Given the description of an element on the screen output the (x, y) to click on. 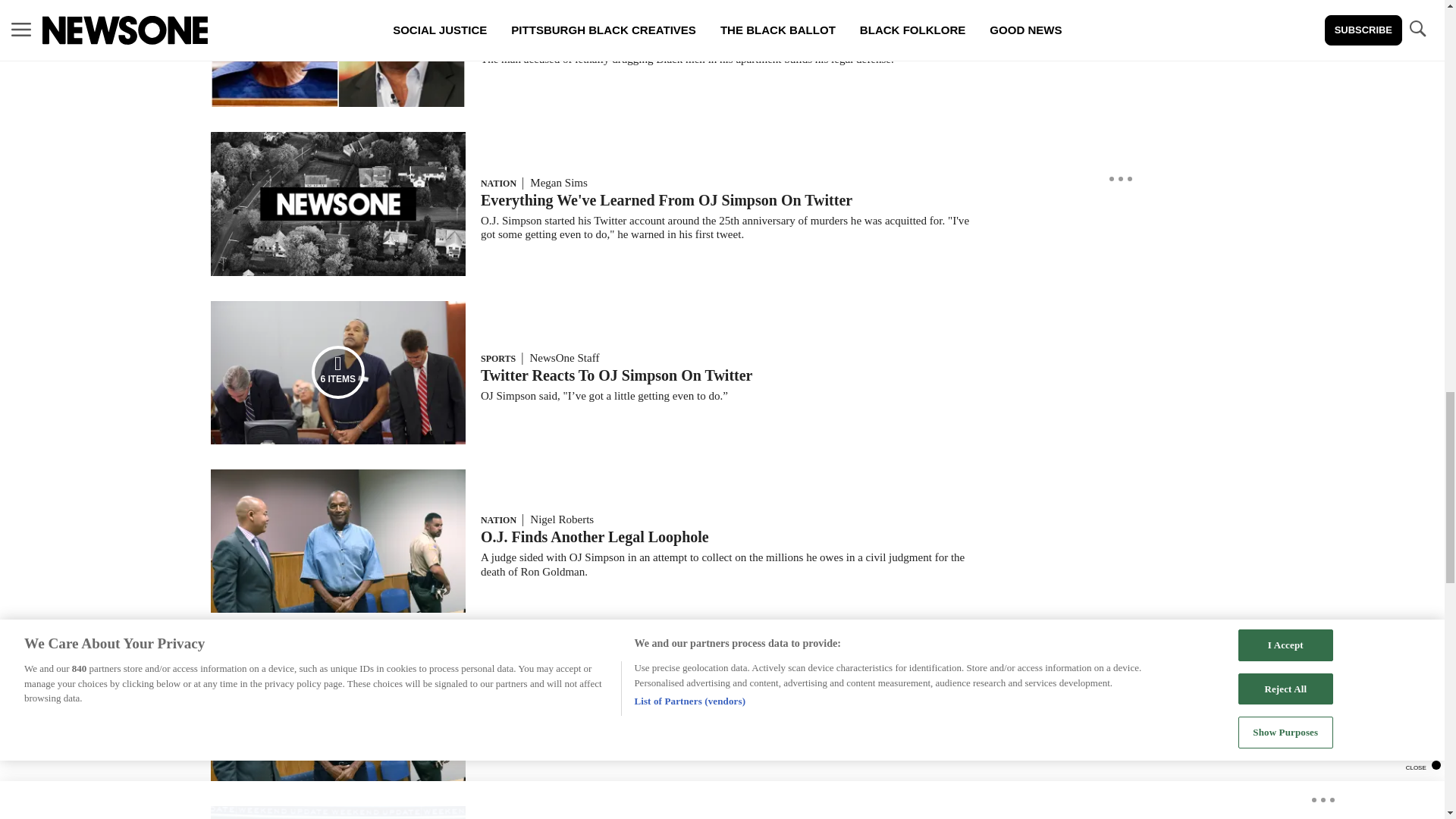
Megan Sims (558, 182)
Everything We've Learned From OJ Simpson On Twitter (665, 199)
Ed Buck Hires O.J. Prosecutor Chris Darden (626, 38)
CRIME (496, 21)
Media Playlist (338, 371)
NATION (498, 183)
